Given the description of an element on the screen output the (x, y) to click on. 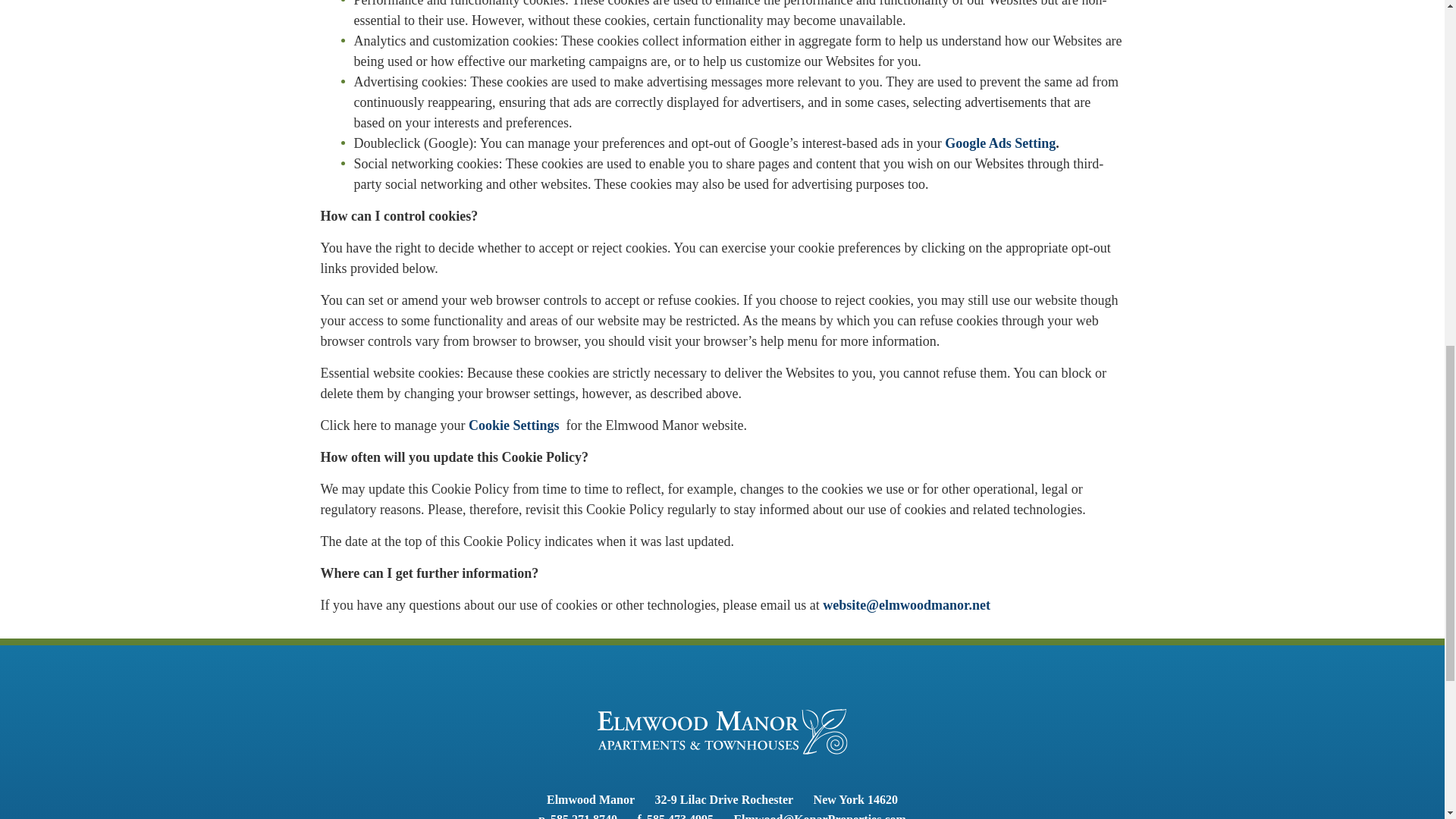
Cookie Settings  (517, 425)
Google Ads Setting (999, 142)
